Given the description of an element on the screen output the (x, y) to click on. 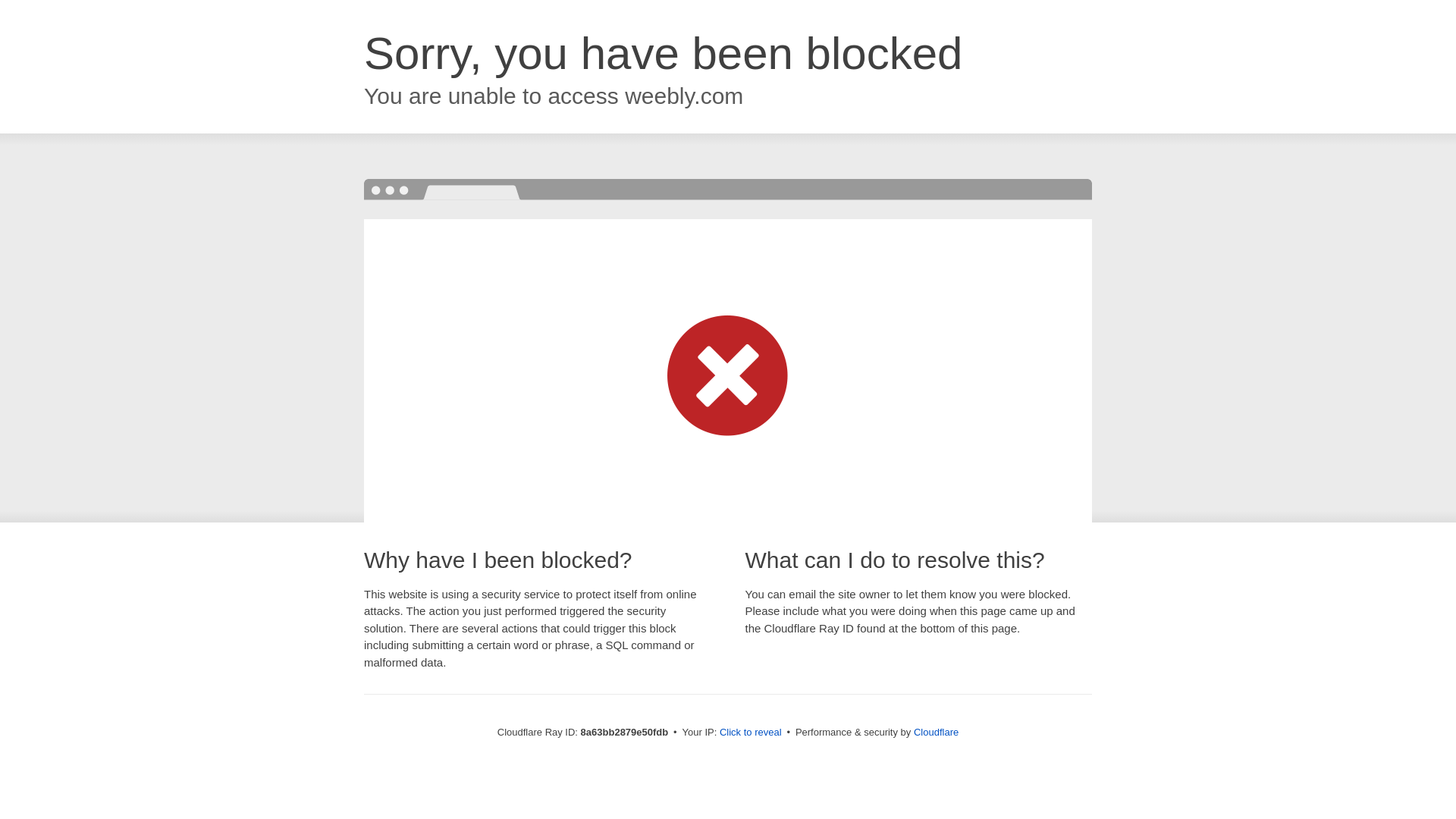
Cloudflare (936, 731)
Click to reveal (750, 732)
